Given the description of an element on the screen output the (x, y) to click on. 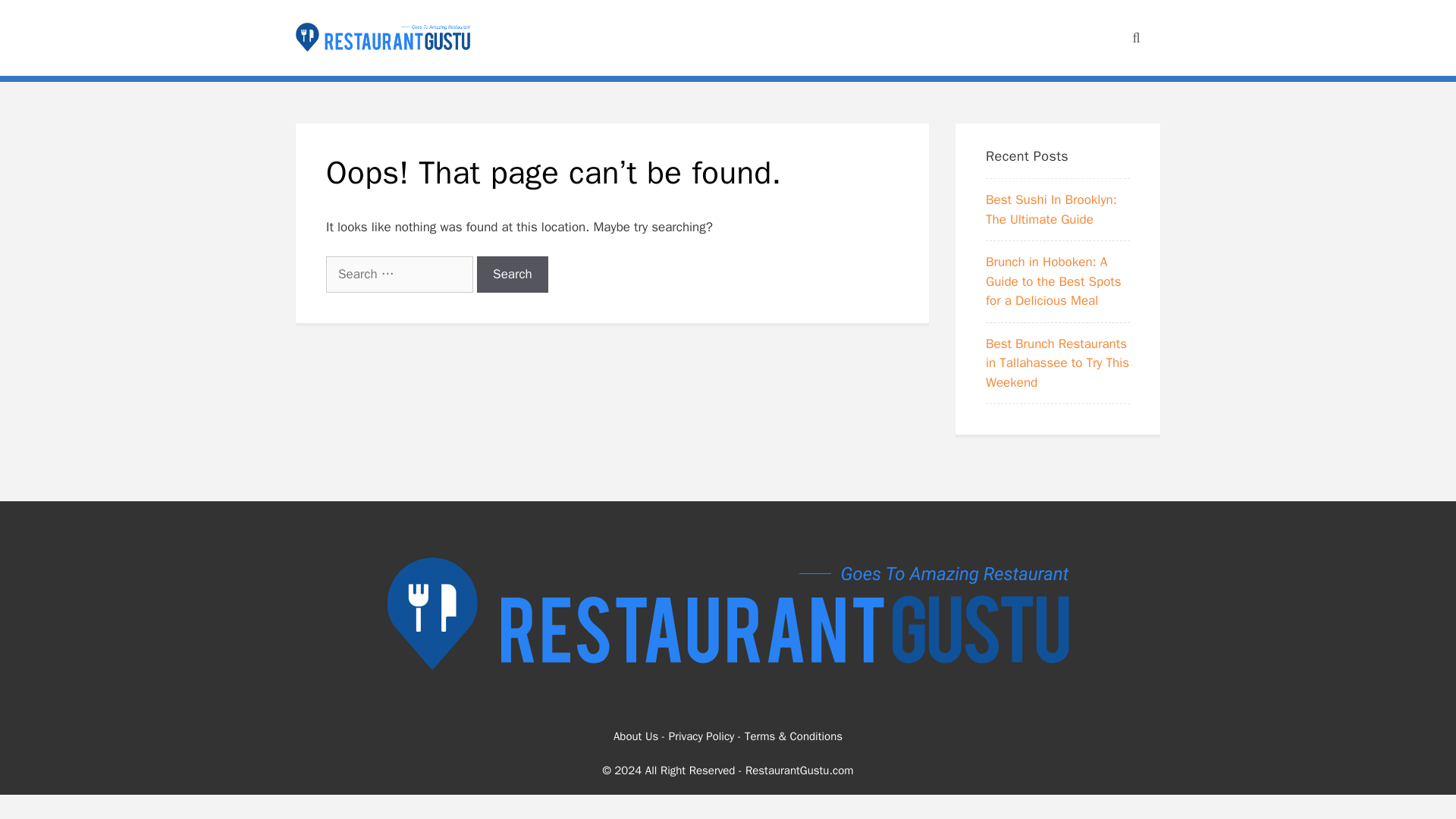
Best Brunch Restaurants in Tallahassee to Try This Weekend (1057, 361)
Search for: (399, 274)
Search (512, 274)
About Us (635, 735)
Search (512, 274)
Search (512, 274)
Privacy Policy (701, 735)
Best Sushi In Brooklyn: The Ultimate Guide (1050, 209)
